Given the description of an element on the screen output the (x, y) to click on. 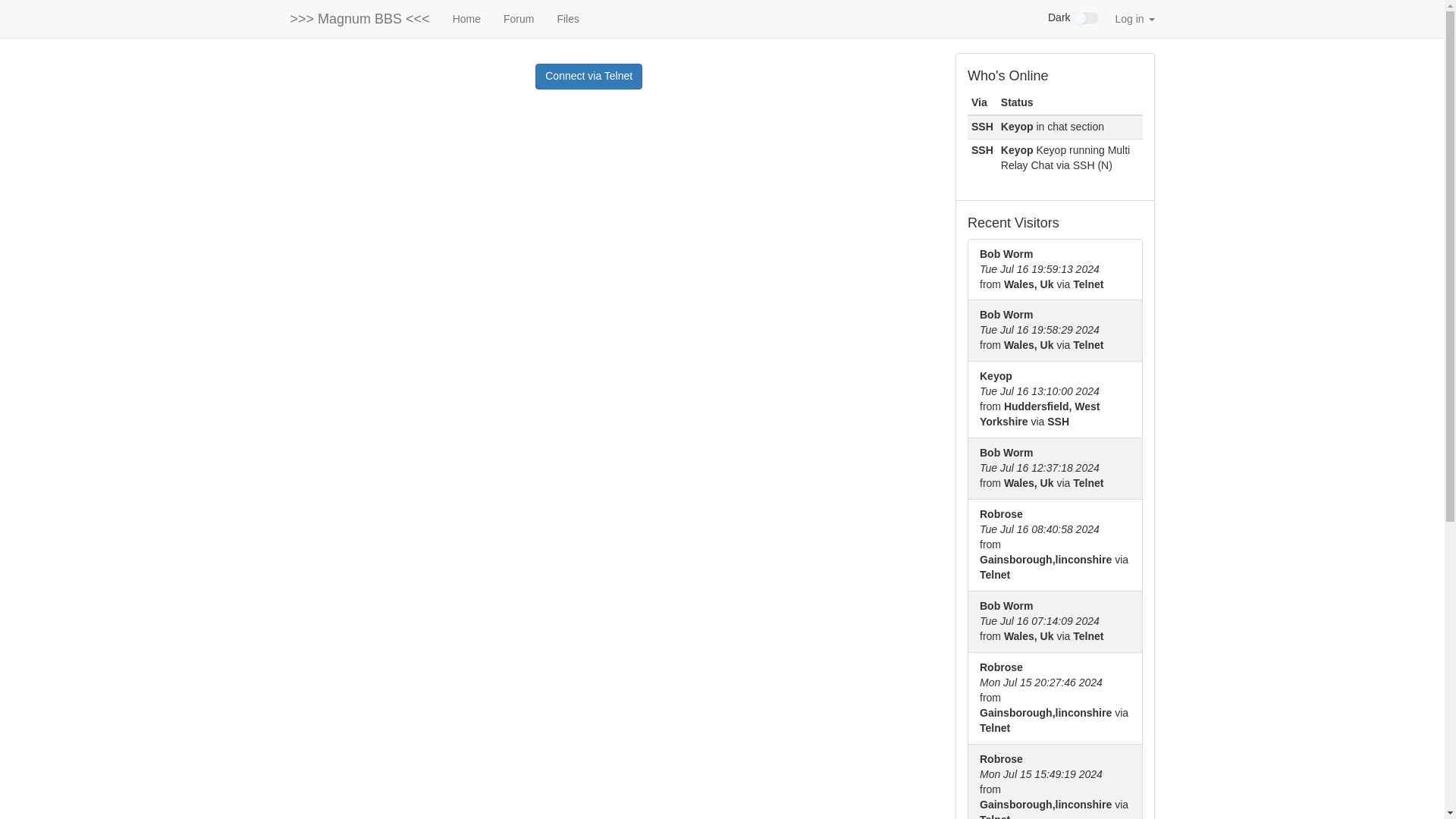
Forum (518, 18)
Home (466, 18)
Files (567, 18)
Log in (1134, 18)
Connect via Telnet (588, 76)
